Given the description of an element on the screen output the (x, y) to click on. 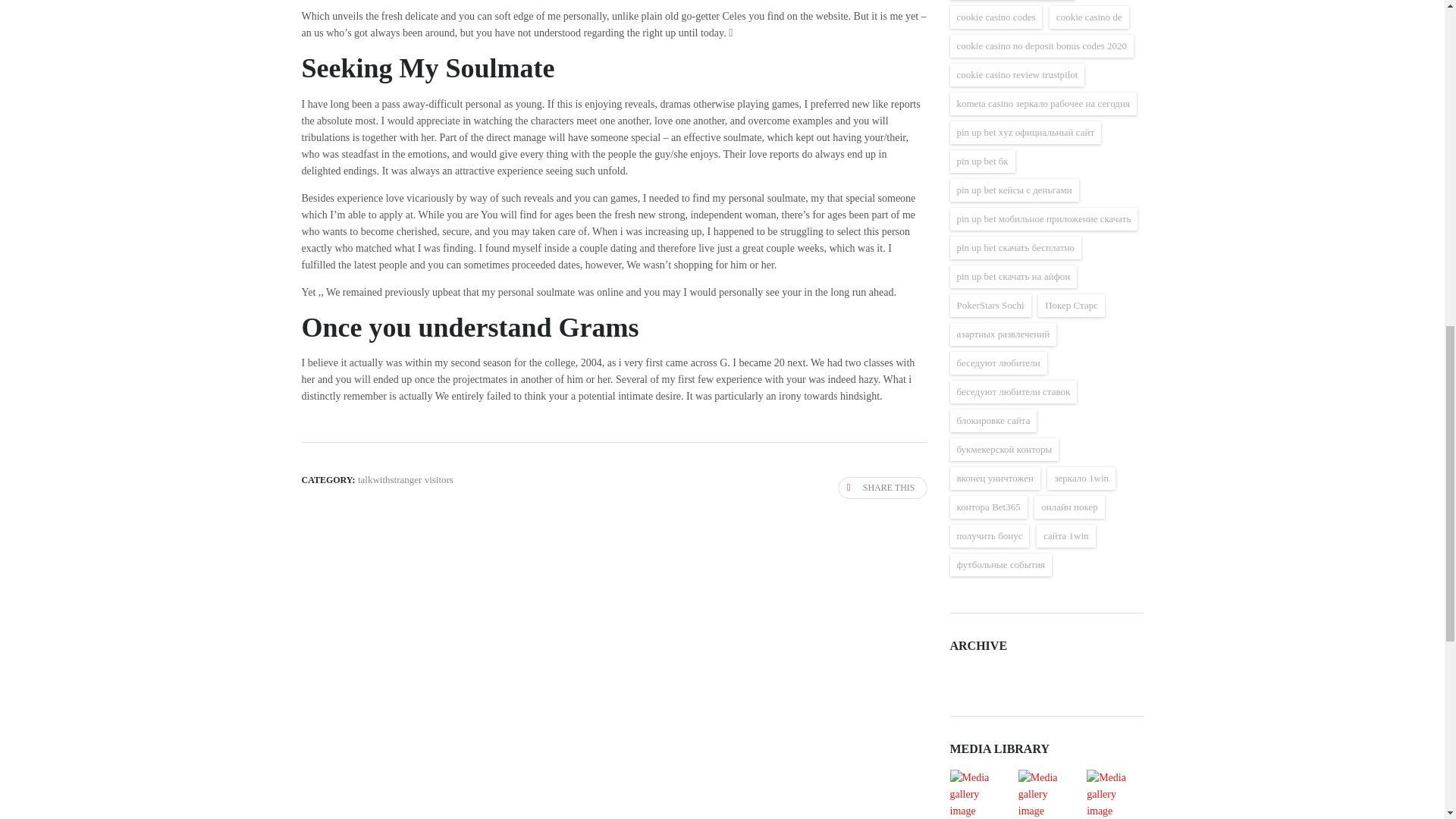
talkwithstranger visitors (405, 479)
cookie casino de (1089, 16)
cookie casino codes (995, 16)
Watch in popup (977, 794)
cookie casino no deposit bonus codes 2020 (1041, 46)
SHARE THIS (882, 487)
Watch in popup (1114, 794)
PokerStars Sochi (989, 305)
cookie casino review trustpilot (1016, 74)
Watch in popup (1045, 794)
